Given the description of an element on the screen output the (x, y) to click on. 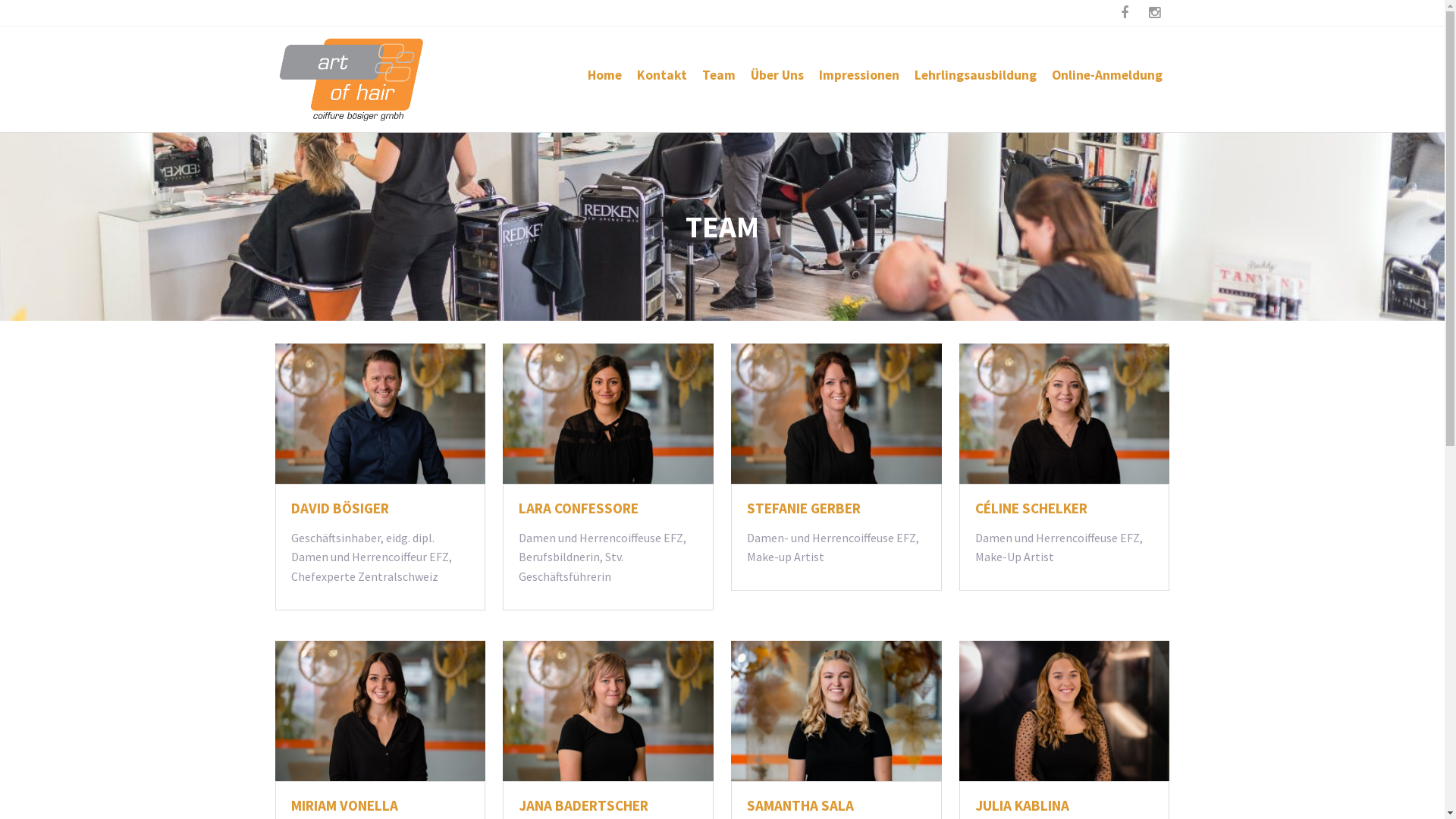
Team Element type: text (718, 74)
Online-Anmeldung Element type: text (1106, 74)
Kontakt Element type: text (661, 74)
Lehrlingsausbildung Element type: text (975, 74)
Impressionen Element type: text (858, 74)
Home Element type: text (603, 74)
